Given the description of an element on the screen output the (x, y) to click on. 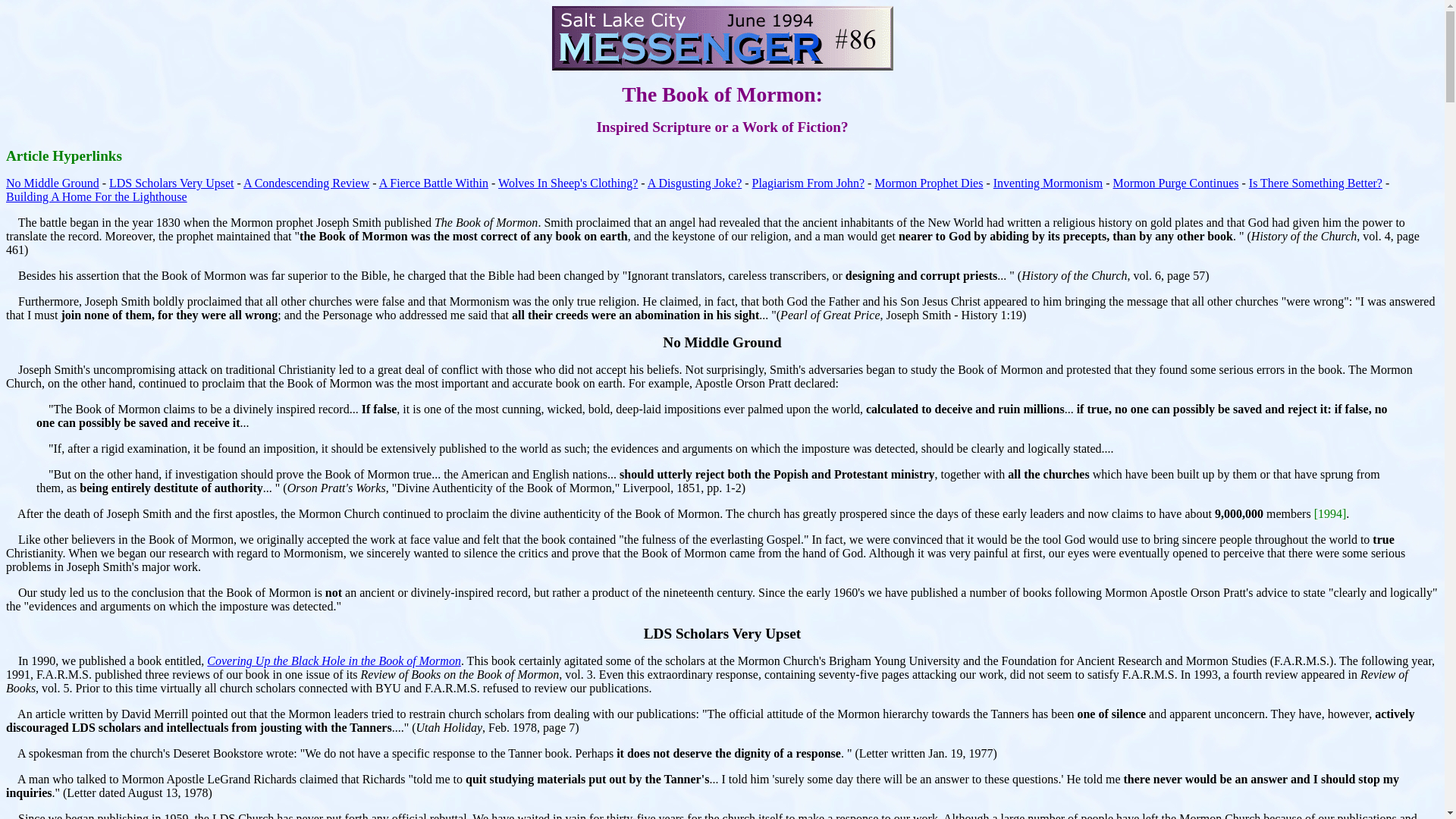
Wolves In Sheep's Clothing? (567, 182)
Covering Up the Black Hole in the Book of Mormon (333, 660)
No Middle Ground (52, 182)
A Disgusting Joke? (694, 182)
Plagiarism From John? (808, 182)
Mormon Prophet Dies (928, 182)
Mormon Purge Continues (1176, 182)
No Middle Ground (721, 342)
Building A Home For the Lighthouse (96, 196)
Is There Something Better? (1315, 182)
